Given the description of an element on the screen output the (x, y) to click on. 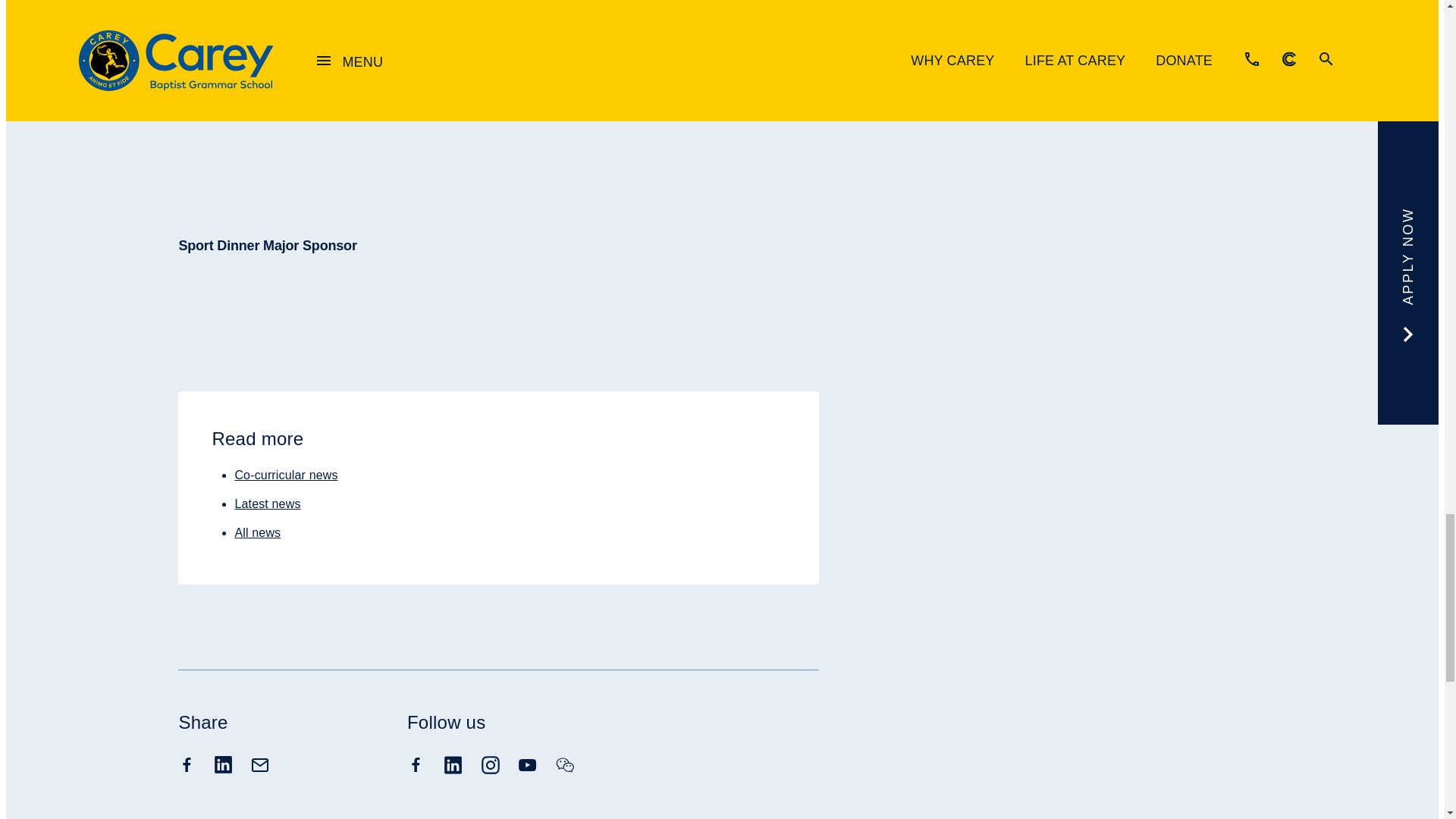
Co-curricular news (285, 474)
Latest news (266, 503)
All news (257, 532)
